Given the description of an element on the screen output the (x, y) to click on. 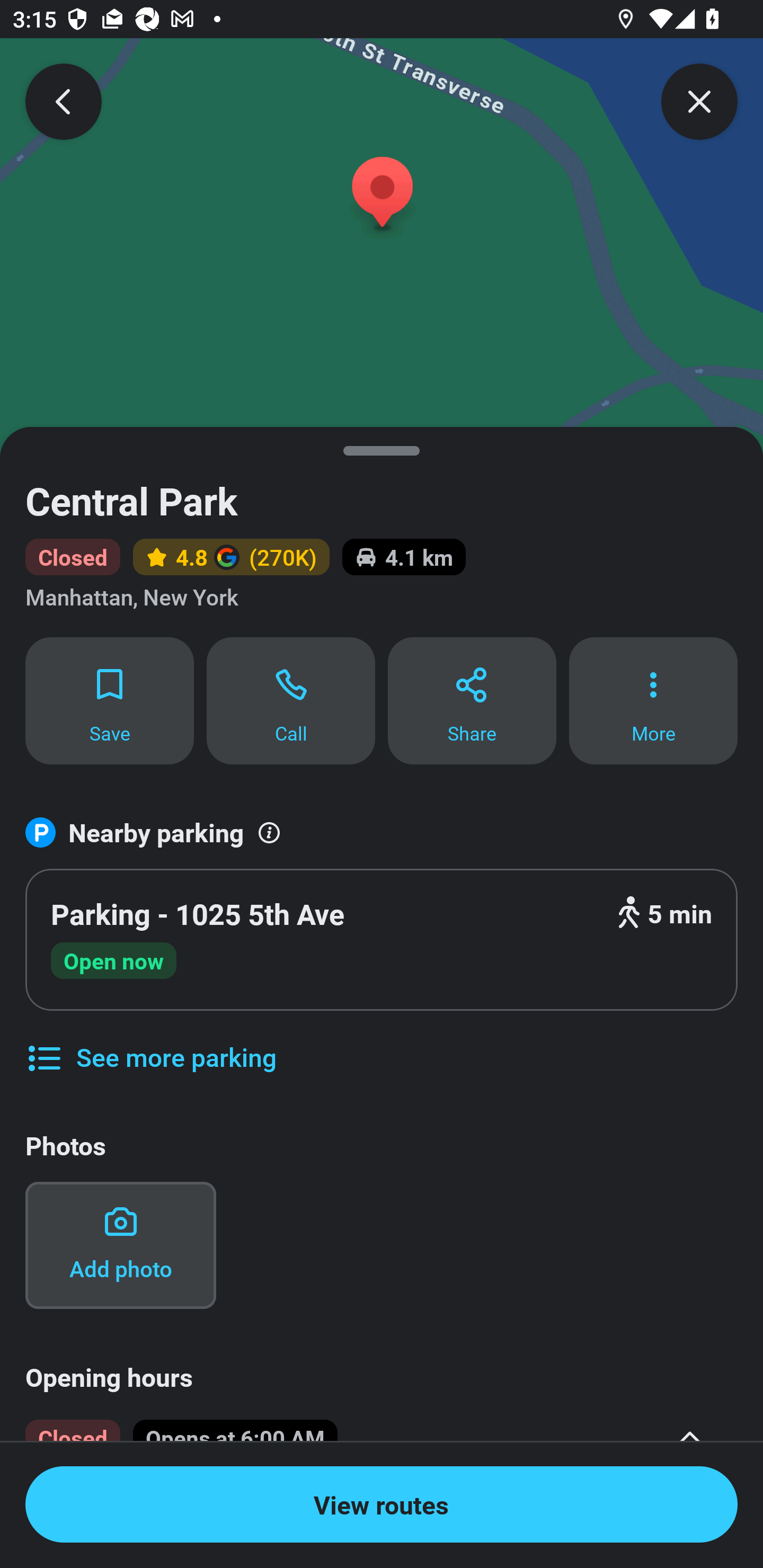
Save (109, 700)
Call (290, 700)
Share (471, 700)
More (653, 700)
Parking - 1025 5th Ave 5 min Open now (381, 939)
See more parking (150, 1043)
Add photo (120, 1245)
View routes (381, 1504)
